Given the description of an element on the screen output the (x, y) to click on. 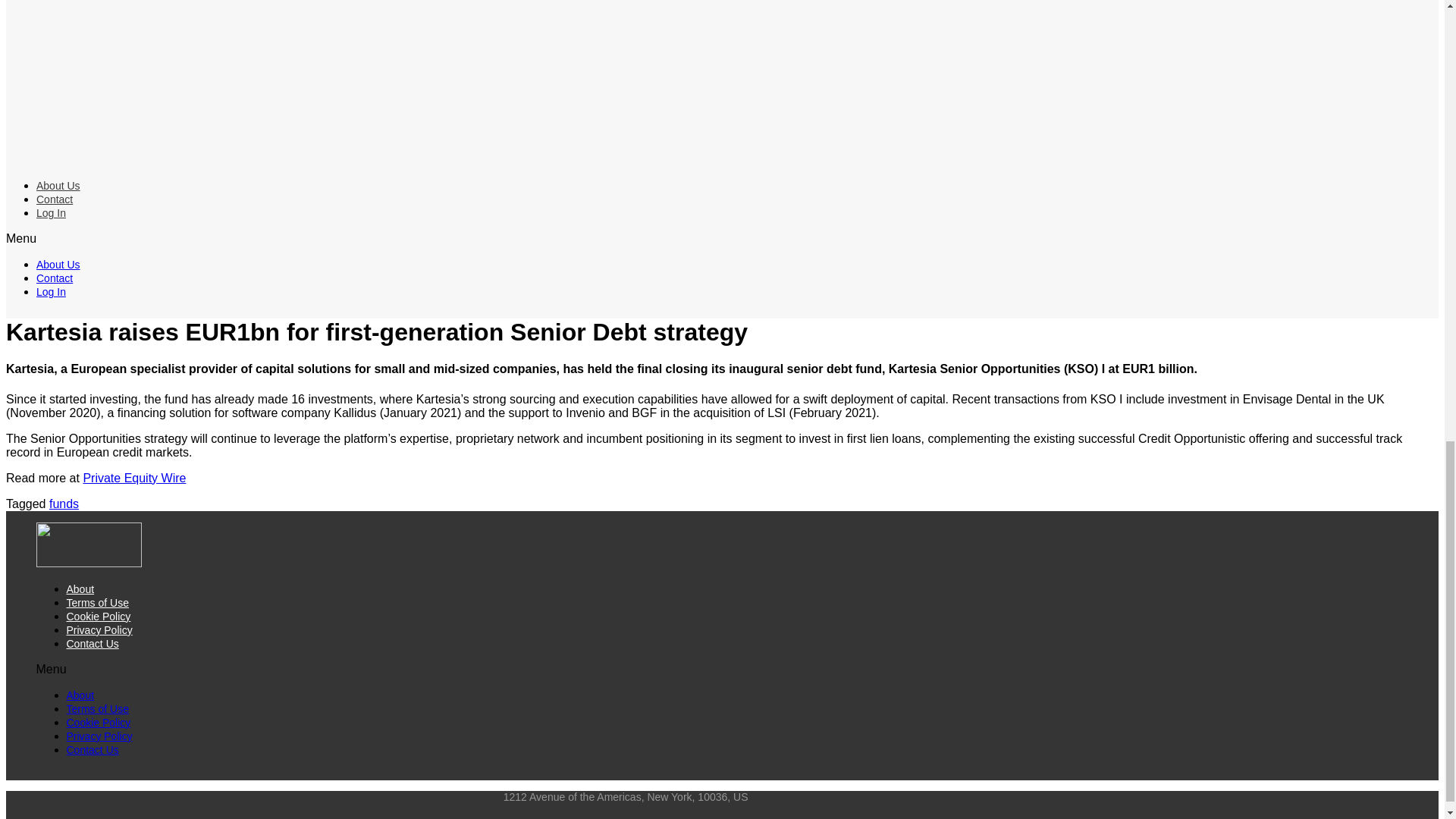
Contact Us (92, 749)
Cookie Policy (98, 722)
Log In (50, 213)
Cookie Policy (98, 616)
Privacy Policy (99, 630)
Contact (54, 199)
Contact Us (92, 644)
Log In (50, 291)
Private Equity Wire (134, 477)
Privacy Policy (99, 736)
